Given the description of an element on the screen output the (x, y) to click on. 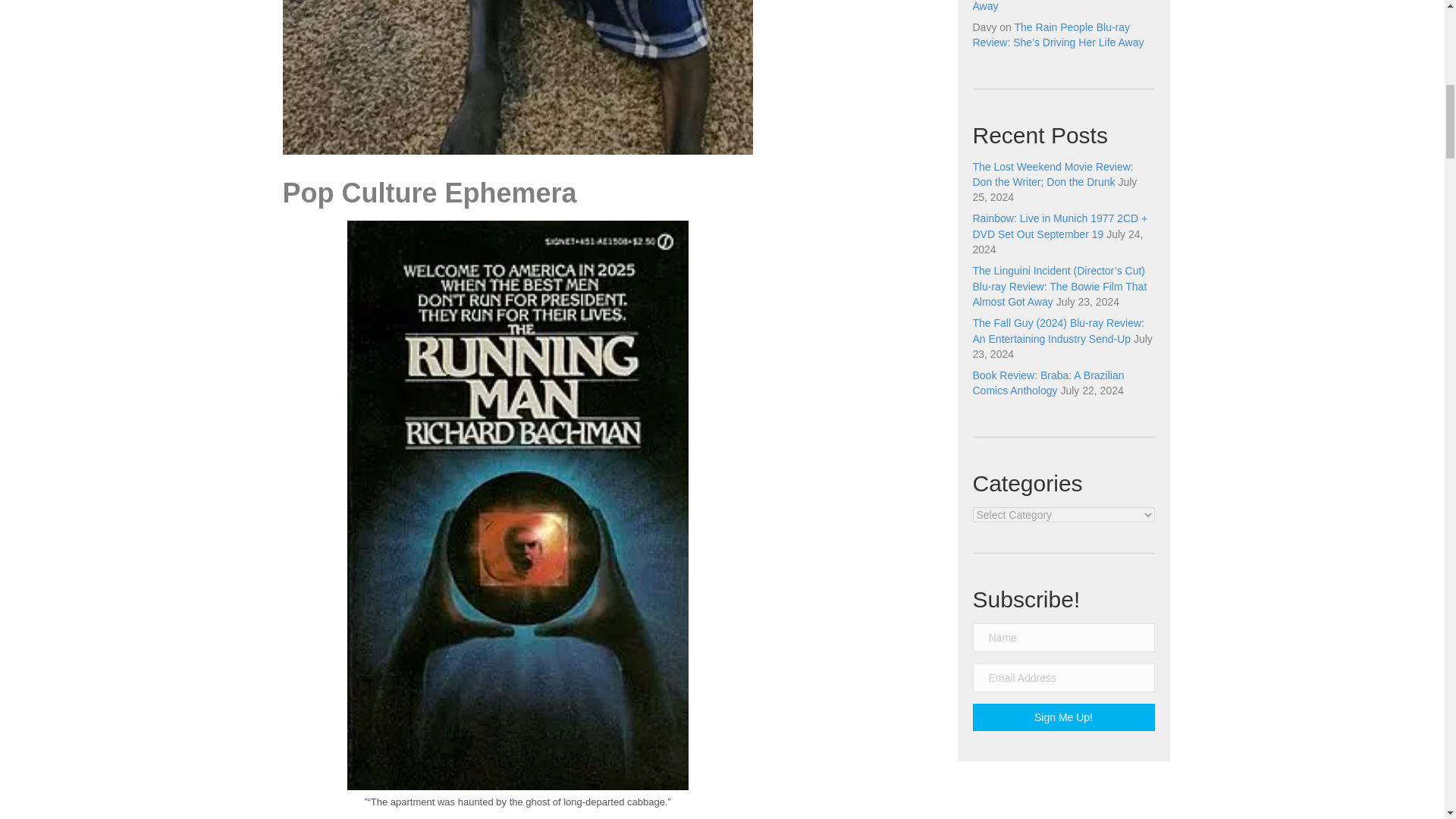
Book Review: Braba: A Brazilian Comics Anthology (1048, 382)
The Lost Weekend Movie Review: Don the Writer; Don the Drunk (1052, 174)
Sign Me Up! (1063, 717)
